Given the description of an element on the screen output the (x, y) to click on. 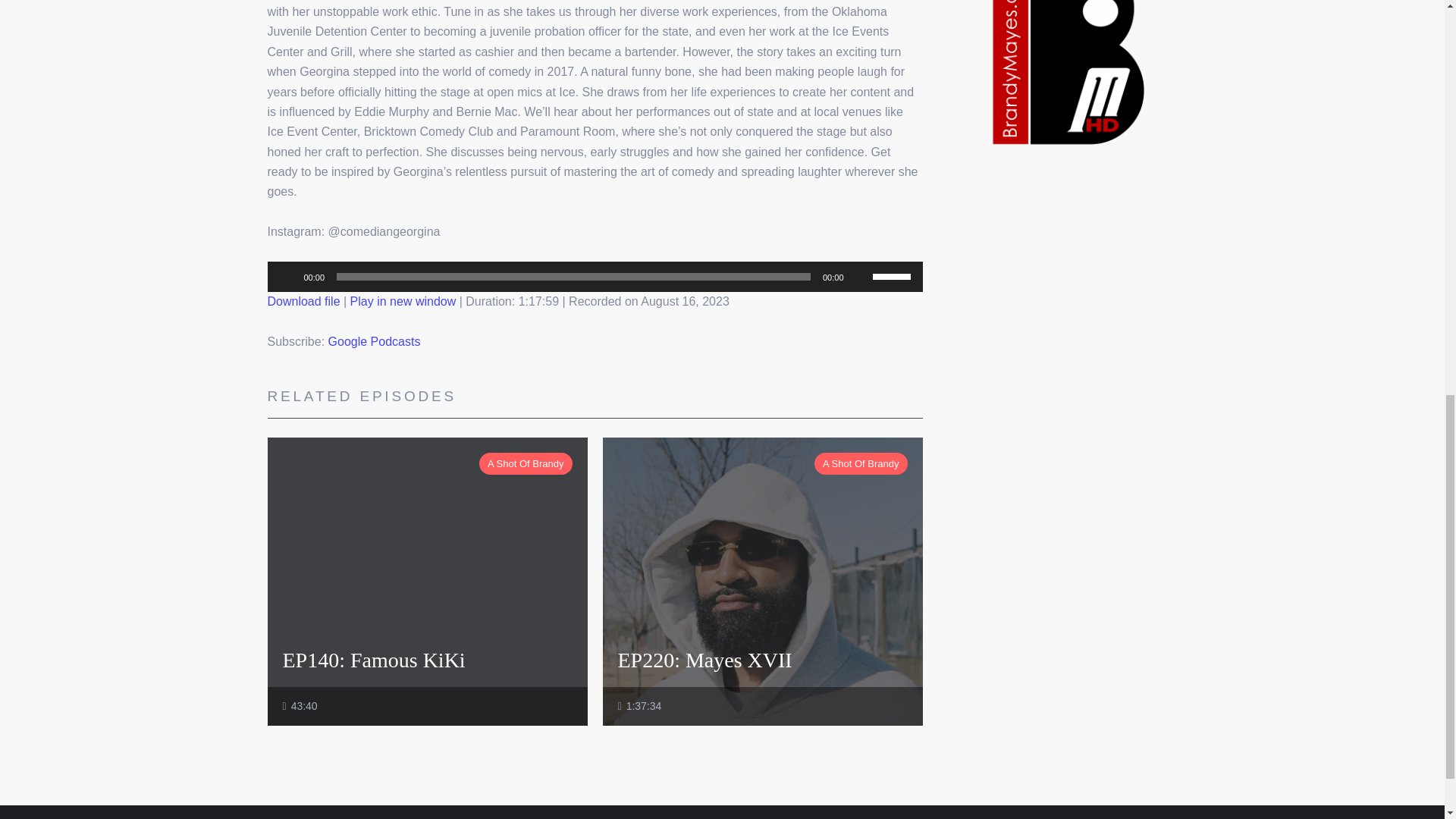
Google Podcasts (374, 341)
EP240: Georgina Adjaye  (302, 300)
EP240: Georgina Adjaye  (403, 300)
Mute (859, 276)
Play (286, 276)
